Given the description of an element on the screen output the (x, y) to click on. 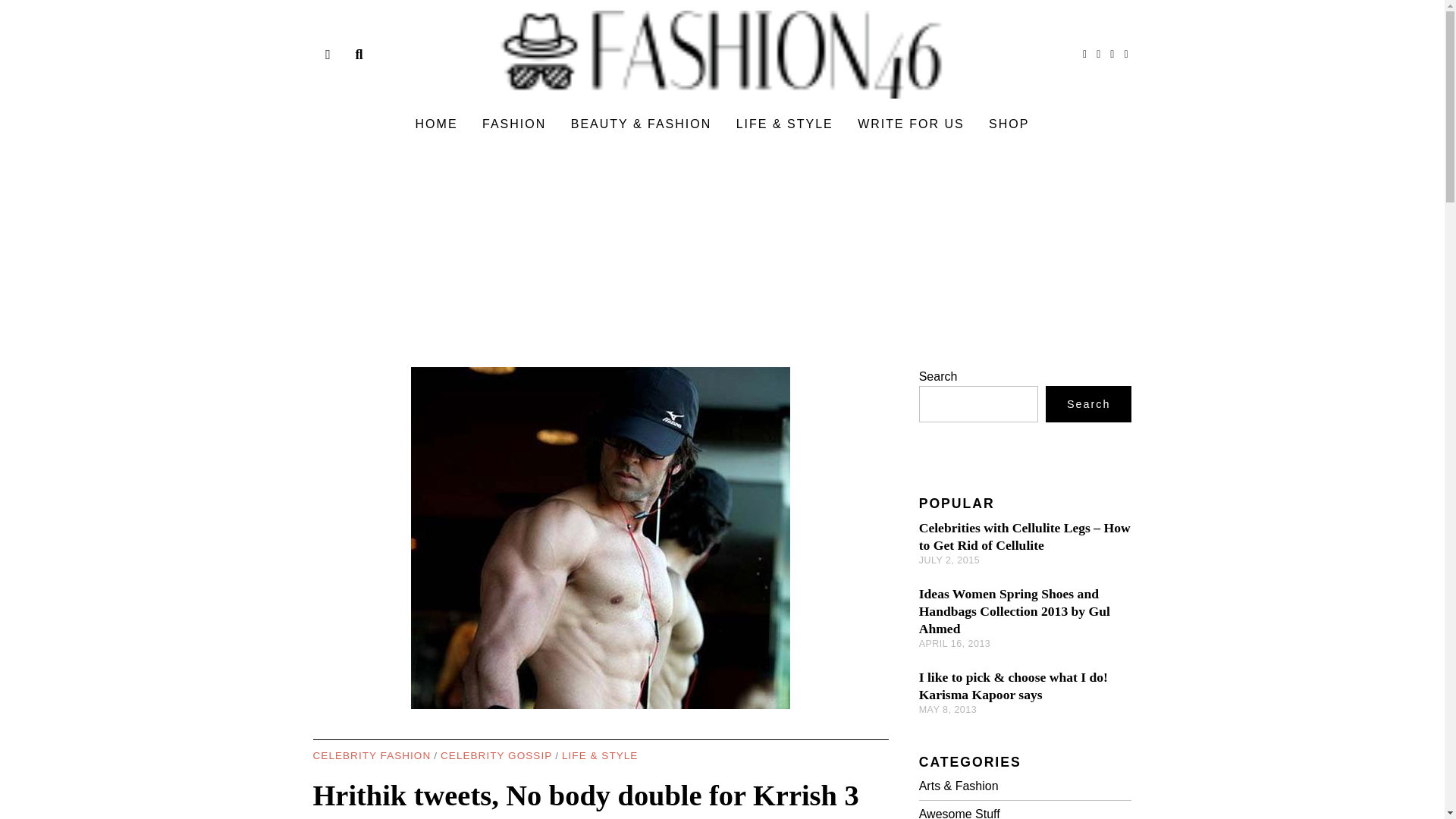
CELEBRITY FASHION (371, 756)
FASHION (513, 123)
CELEBRITY GOSSIP (496, 756)
SHOP (1008, 123)
HOME (436, 123)
WRITE FOR US (910, 123)
